Given the description of an element on the screen output the (x, y) to click on. 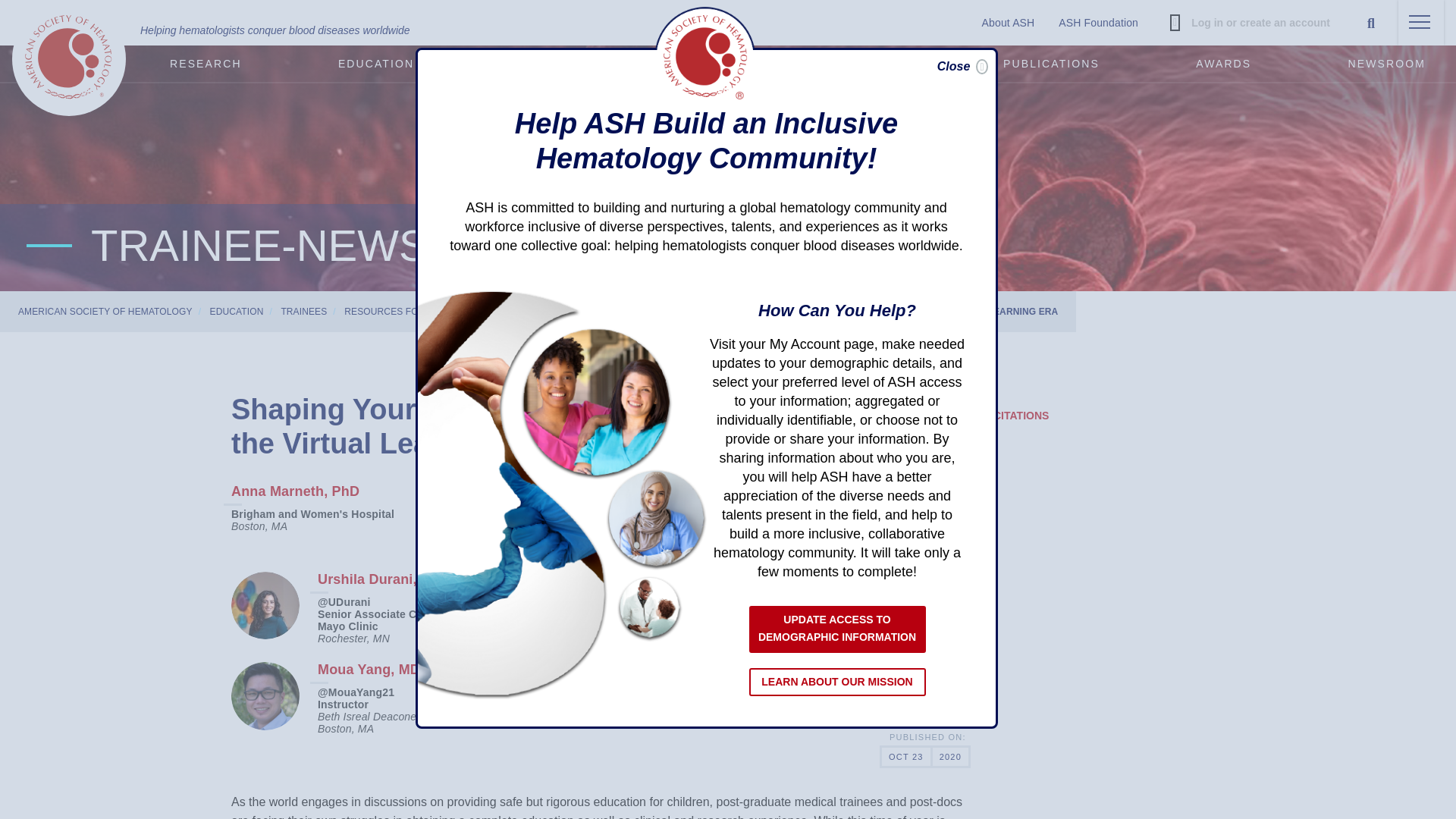
PUBLICATIONS (1051, 63)
RESEARCH (205, 63)
About ASH (1007, 22)
EDUCATION (375, 63)
Education (375, 63)
About ASH (1007, 22)
ADVOCACY (547, 63)
EDUCATION (236, 311)
TRAINEES (303, 311)
ASH Foundation (1098, 22)
CAREERS (710, 63)
MEETINGS (872, 63)
NEWSROOM (1386, 63)
HEMATOPOIESIS (593, 311)
AWARDS (1223, 63)
